Given the description of an element on the screen output the (x, y) to click on. 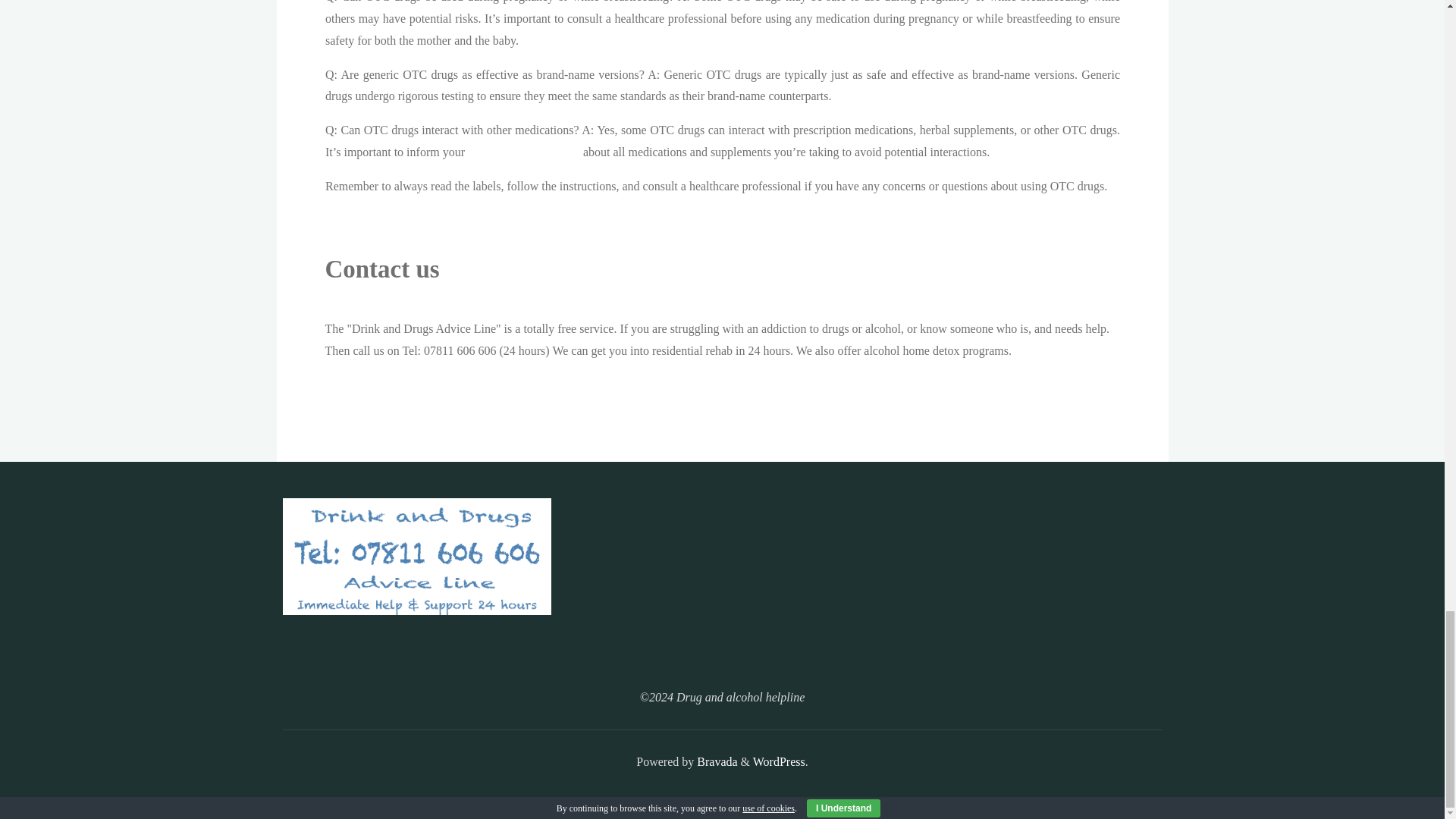
Semantic Personal Publishing Platform (778, 761)
Bravada WordPress Theme by Cryout Creations (715, 761)
